Given the description of an element on the screen output the (x, y) to click on. 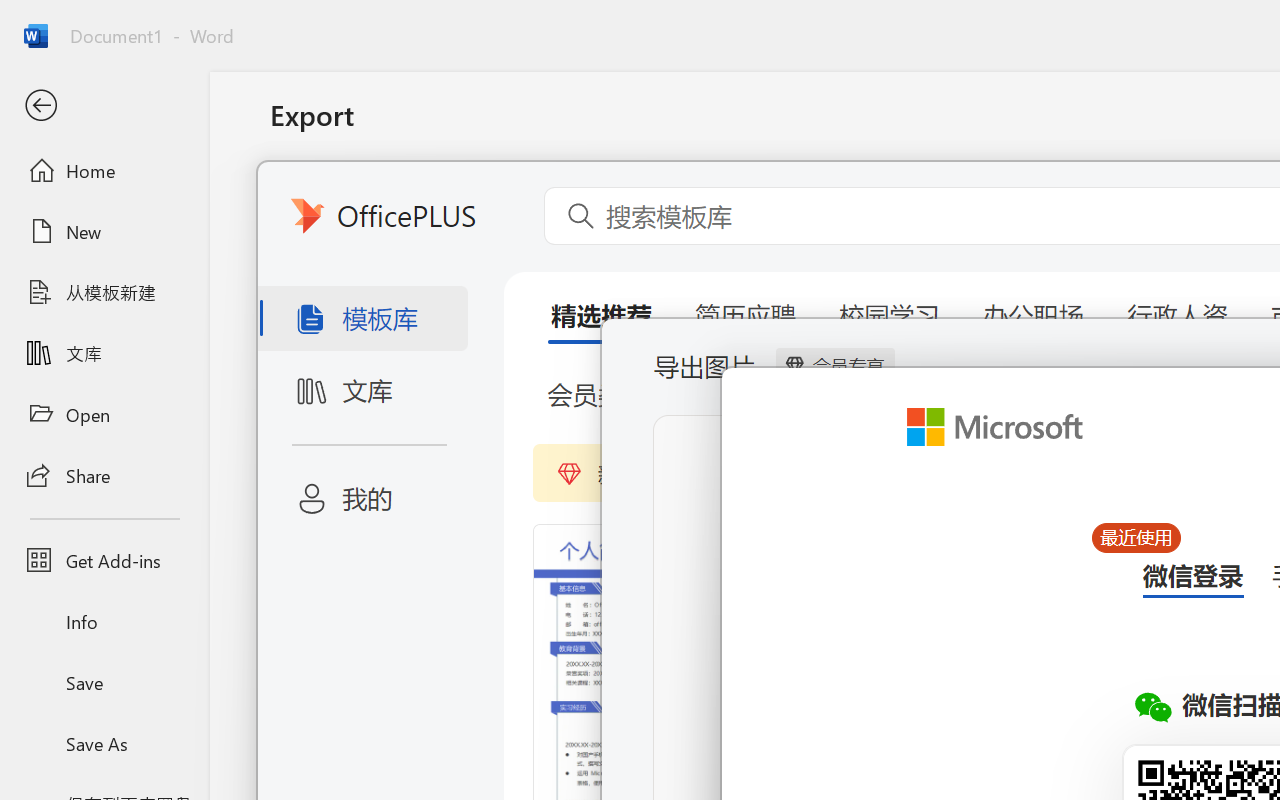
New (104, 231)
Get Add-ins (104, 560)
Change File Type (507, 291)
Back (104, 106)
Info (104, 621)
Save As (104, 743)
